Given the description of an element on the screen output the (x, y) to click on. 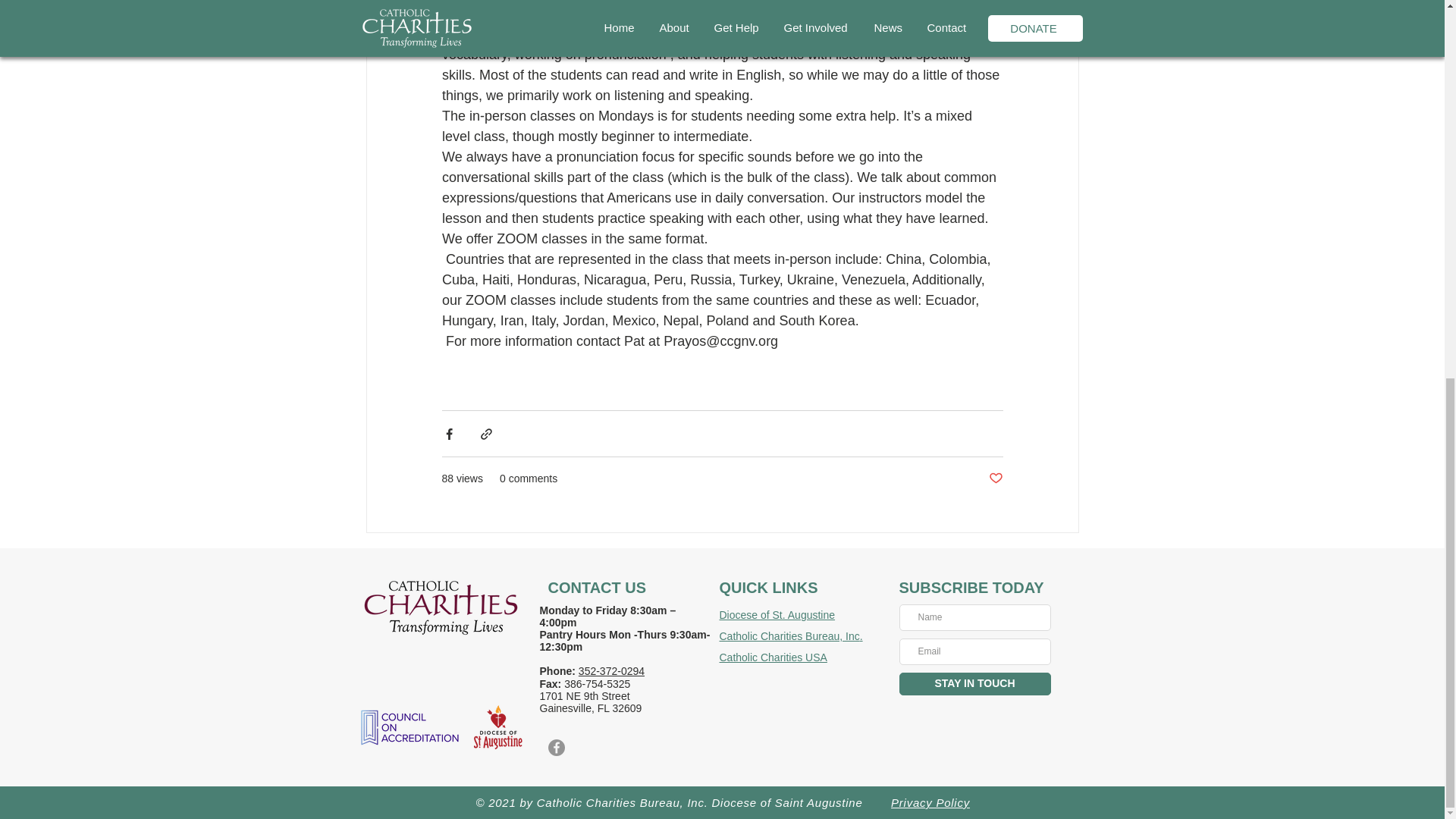
Catholic Charities Bureau, Inc (789, 635)
Catholic Charities USA (773, 657)
Diocese of St. Augustine (776, 614)
352-372-0294 (611, 671)
Privacy Policy (930, 802)
Post not marked as liked (995, 478)
STAY IN TOUCH (975, 683)
